Given the description of an element on the screen output the (x, y) to click on. 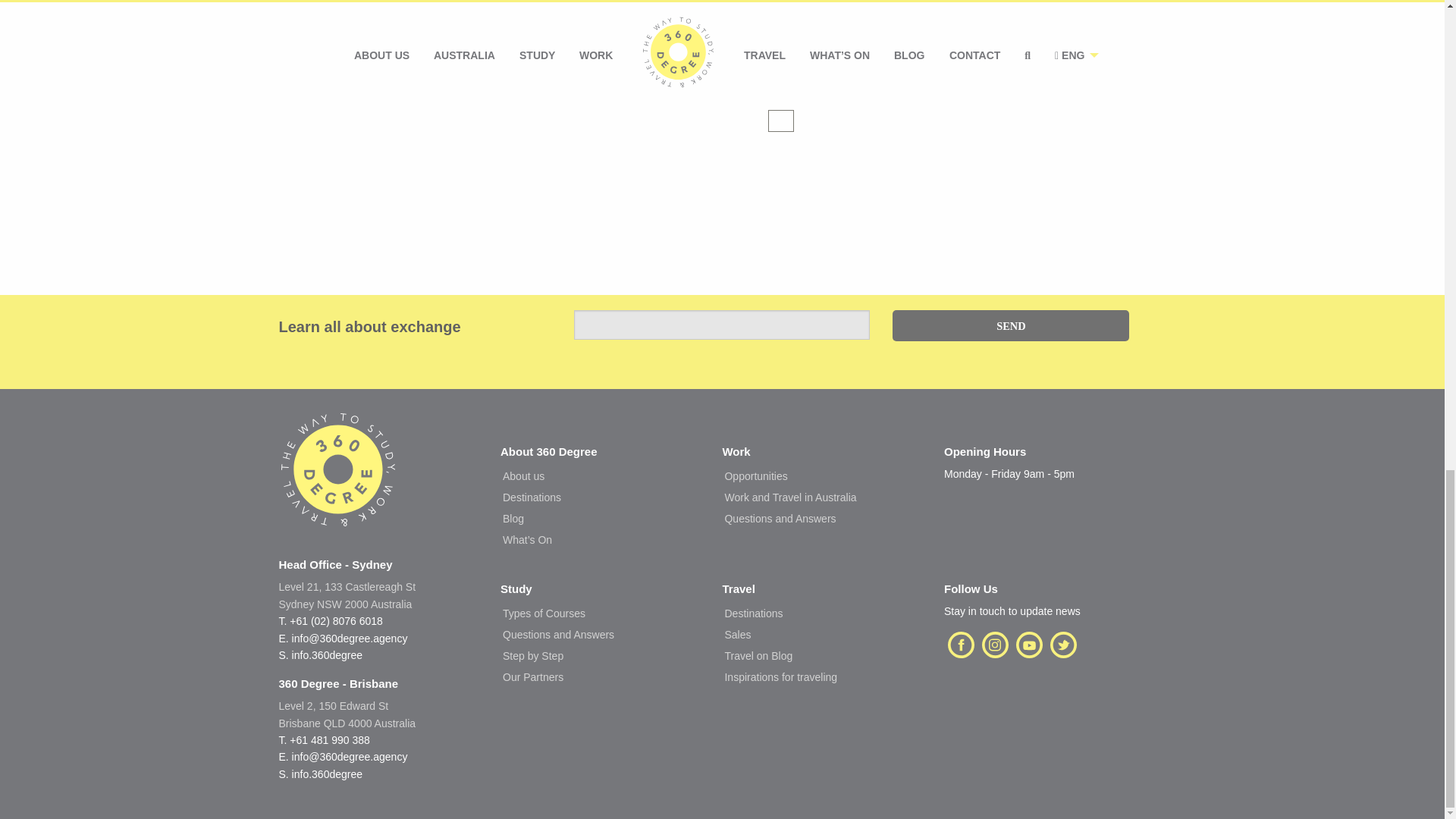
Send (1010, 325)
Follow 360 Degree on Instagram (994, 644)
Acesse nosso site (347, 594)
Follow 360 Degree on YouTube (338, 484)
Follow 360 Degree on Facebook (1029, 644)
Send (960, 644)
